Given the description of an element on the screen output the (x, y) to click on. 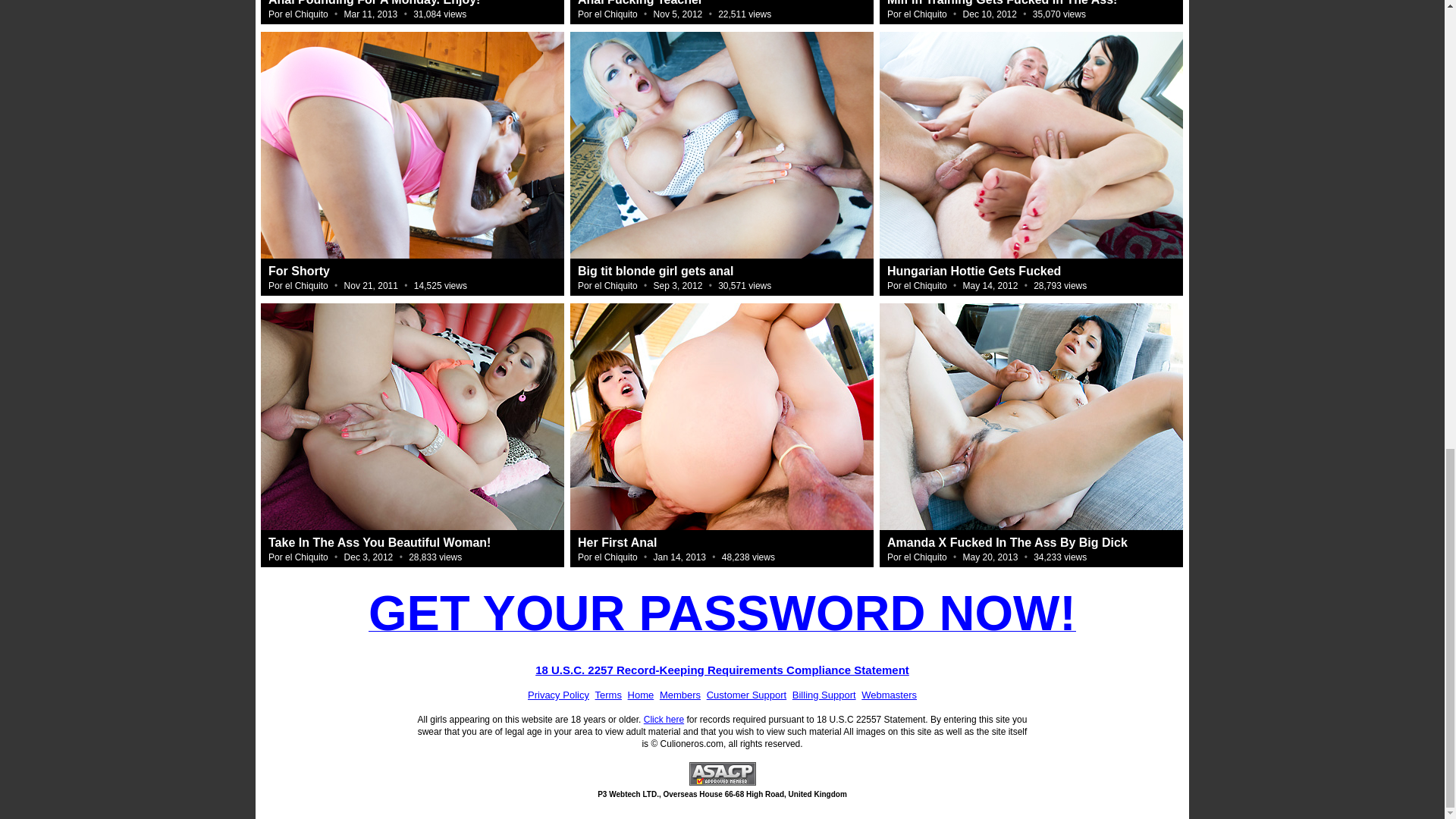
Privacy Policy (558, 695)
GET YOUR PASSWORD NOW! (721, 609)
Home (640, 695)
Webmasters (889, 695)
Click here (663, 719)
Billing Support (824, 695)
Terms (608, 695)
Customer Support (746, 695)
Members (679, 695)
